Given the description of an element on the screen output the (x, y) to click on. 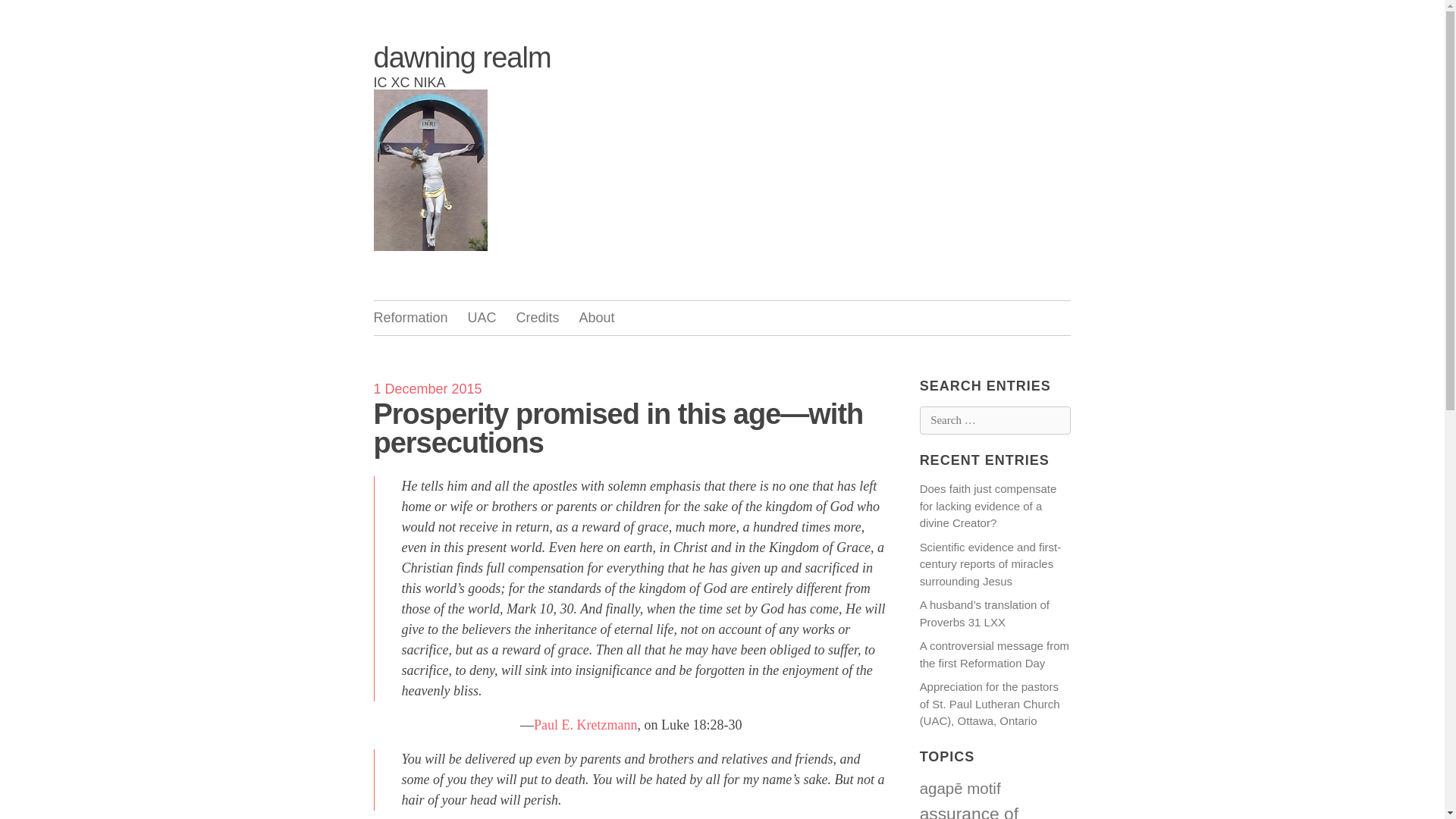
A controversial message from the first Reformation Day (994, 654)
assurance of salvation (968, 811)
1 December 2015 (426, 387)
About (596, 317)
dawning realm (461, 57)
Reformation (409, 317)
Search (28, 13)
Credits (537, 317)
UAC (481, 317)
Paul E. Kretzmann (585, 724)
